Given the description of an element on the screen output the (x, y) to click on. 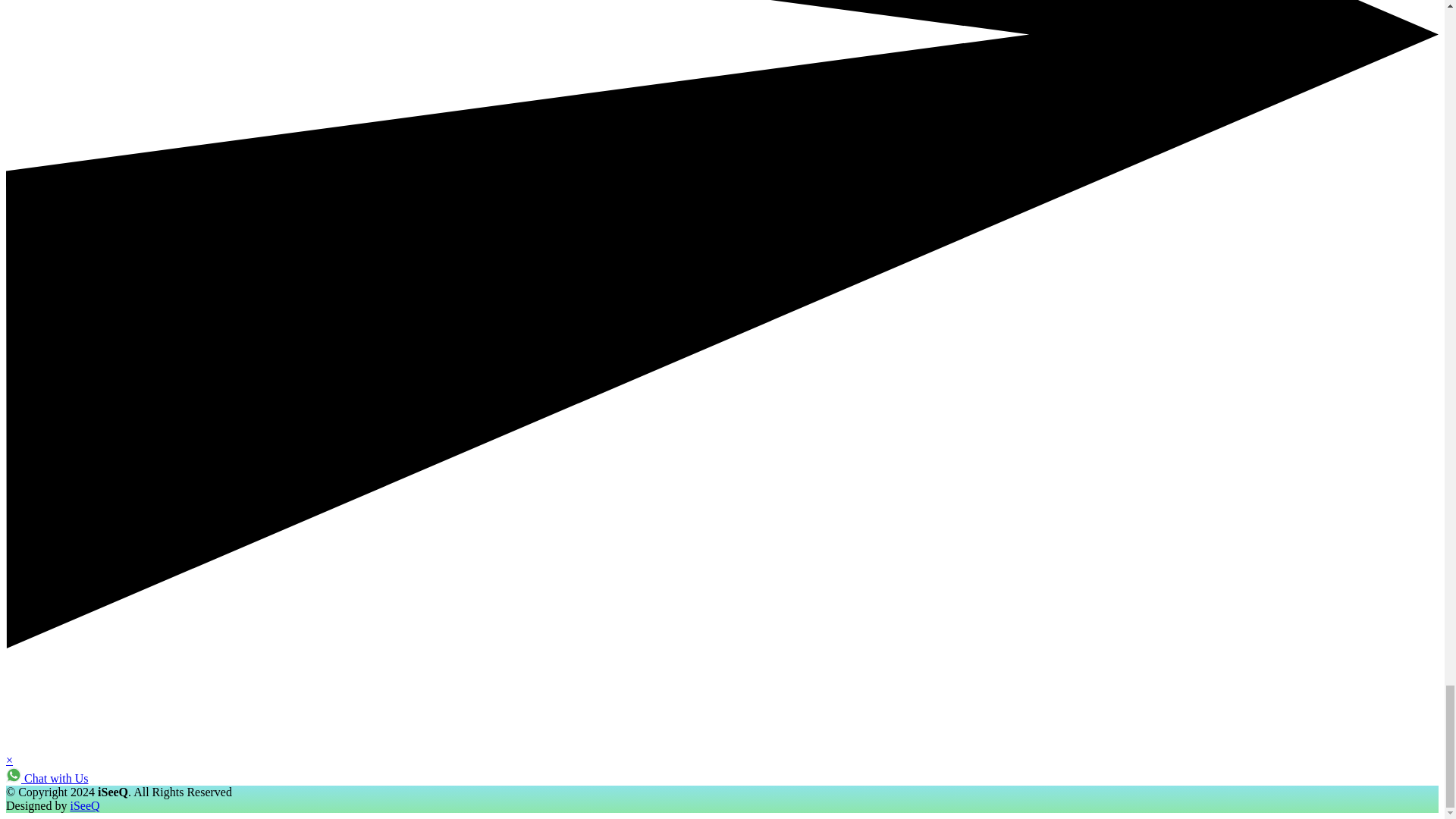
Show Chat (46, 778)
Chat with Us (46, 778)
iSeeQ (84, 805)
